Given the description of an element on the screen output the (x, y) to click on. 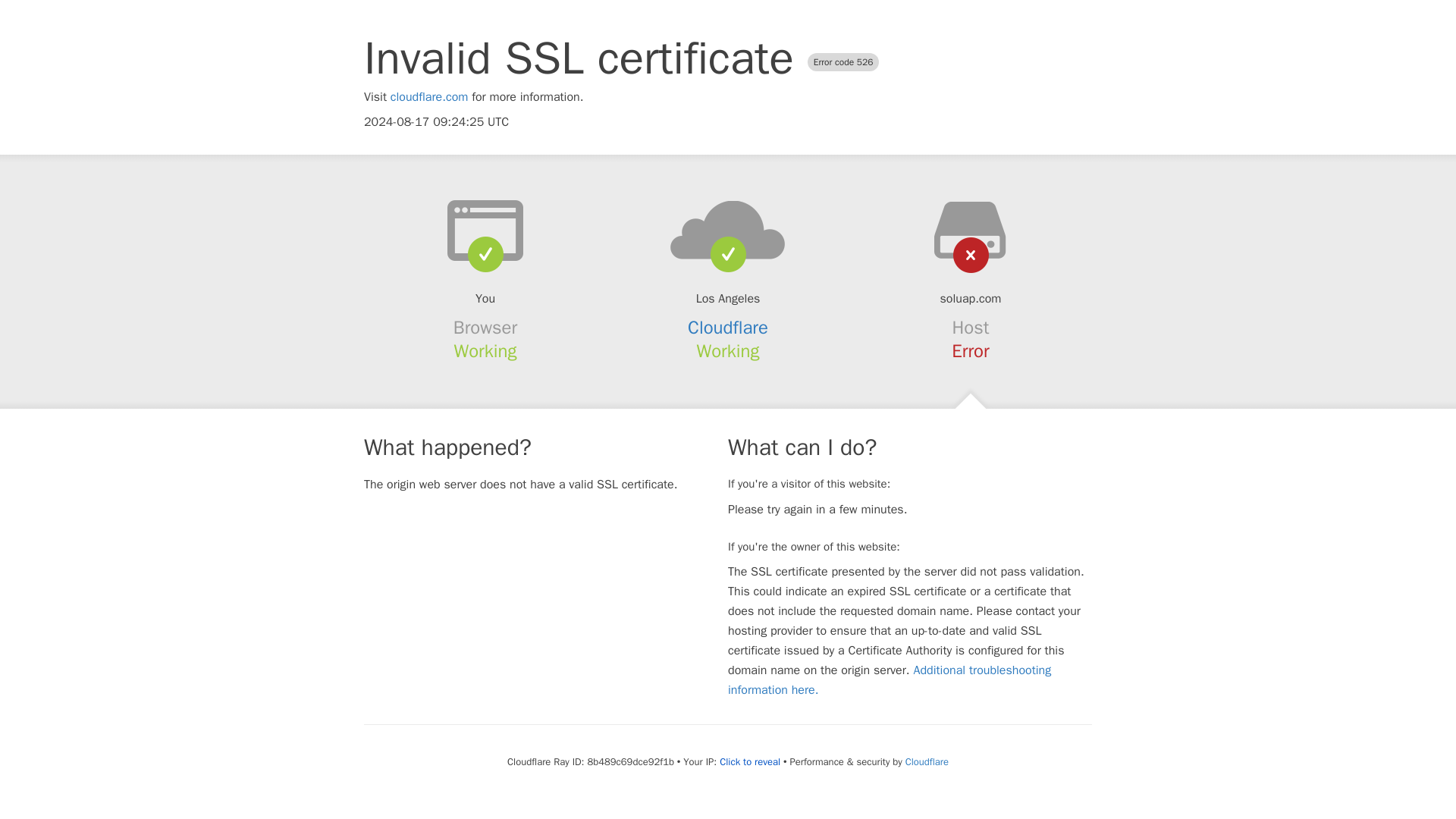
cloudflare.com (429, 96)
Cloudflare (927, 761)
Cloudflare (727, 327)
Additional troubleshooting information here. (889, 679)
Click to reveal (749, 762)
